Given the description of an element on the screen output the (x, y) to click on. 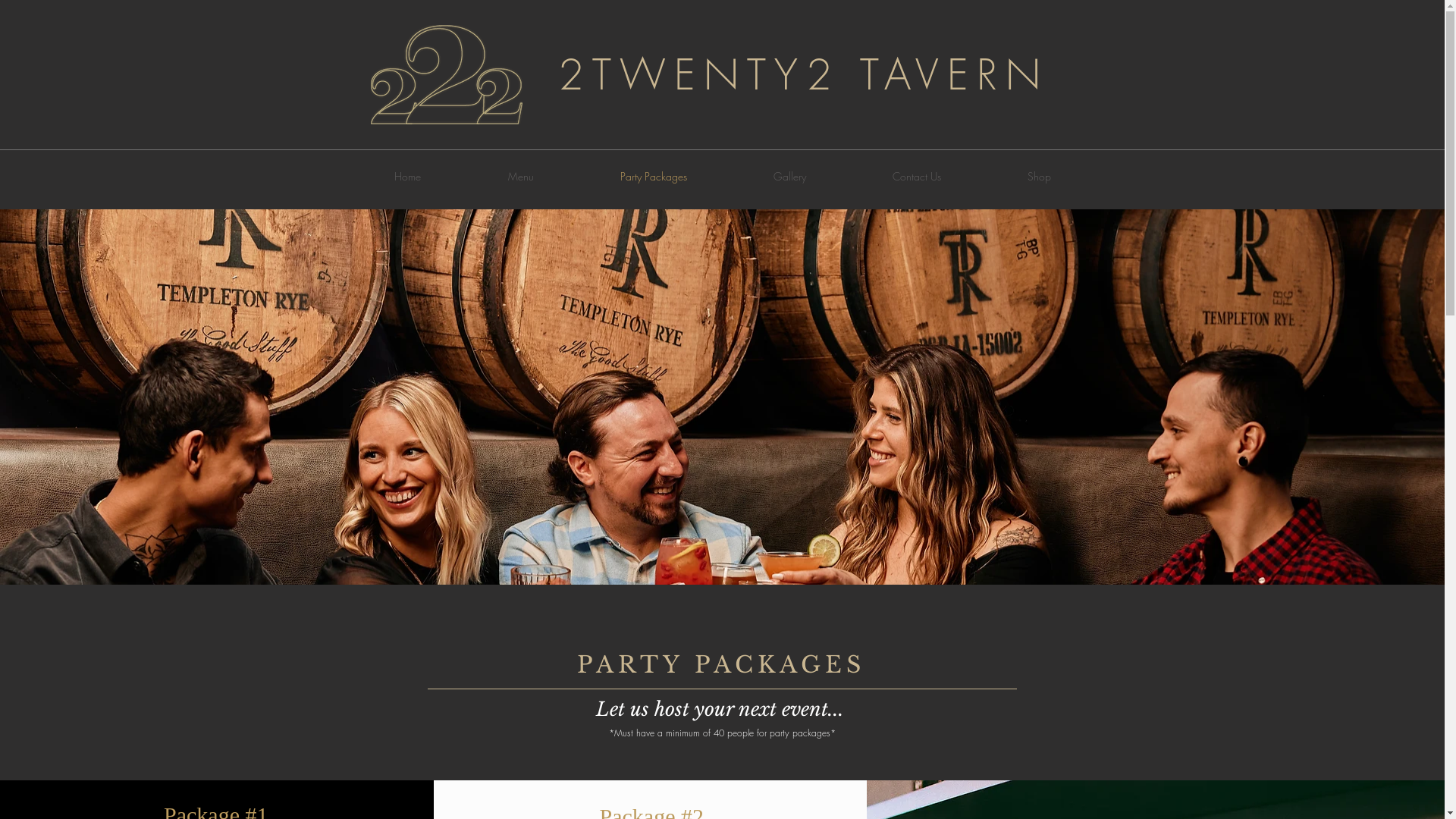
Menu Element type: text (520, 176)
Party Packages Element type: text (652, 176)
2TWENTY2 TAVERN Element type: text (803, 74)
Contact Us Element type: text (916, 176)
Home Element type: text (407, 176)
Shop Element type: text (1039, 176)
Gallery Element type: text (788, 176)
